Given the description of an element on the screen output the (x, y) to click on. 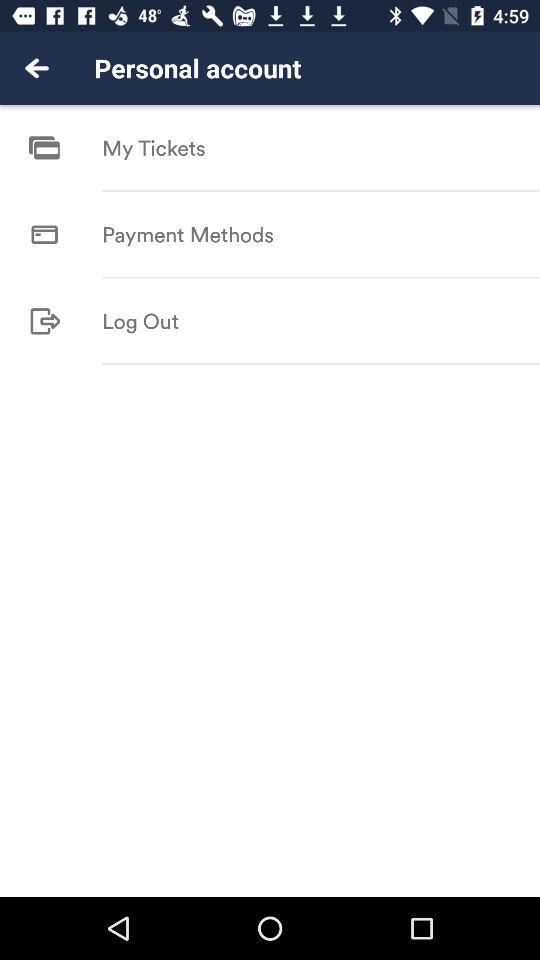
turn off payment methods (187, 234)
